Given the description of an element on the screen output the (x, y) to click on. 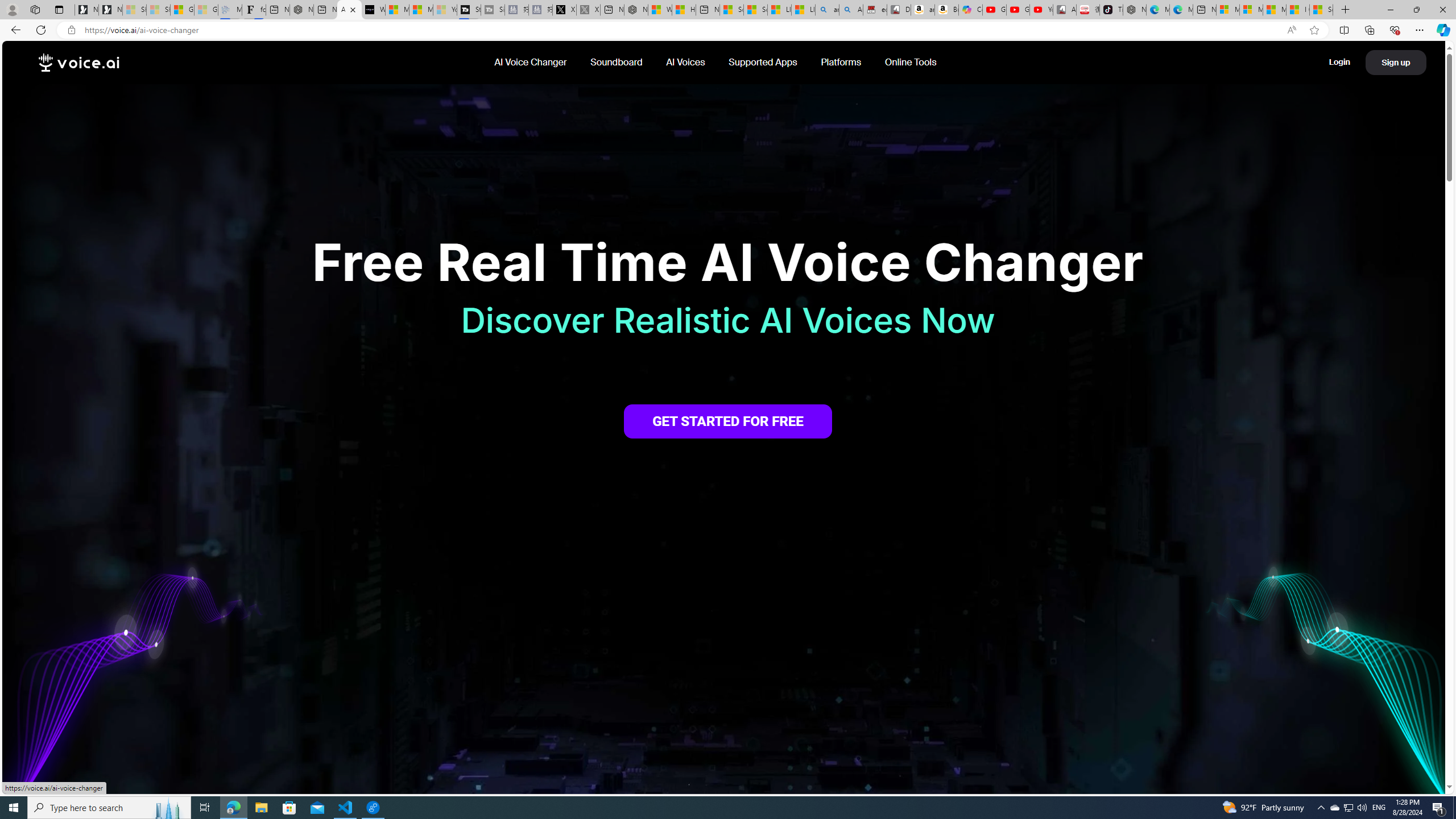
voice.ai (79, 62)
Online Tools (909, 61)
GET STARTED FOR FREE (727, 420)
